Given the description of an element on the screen output the (x, y) to click on. 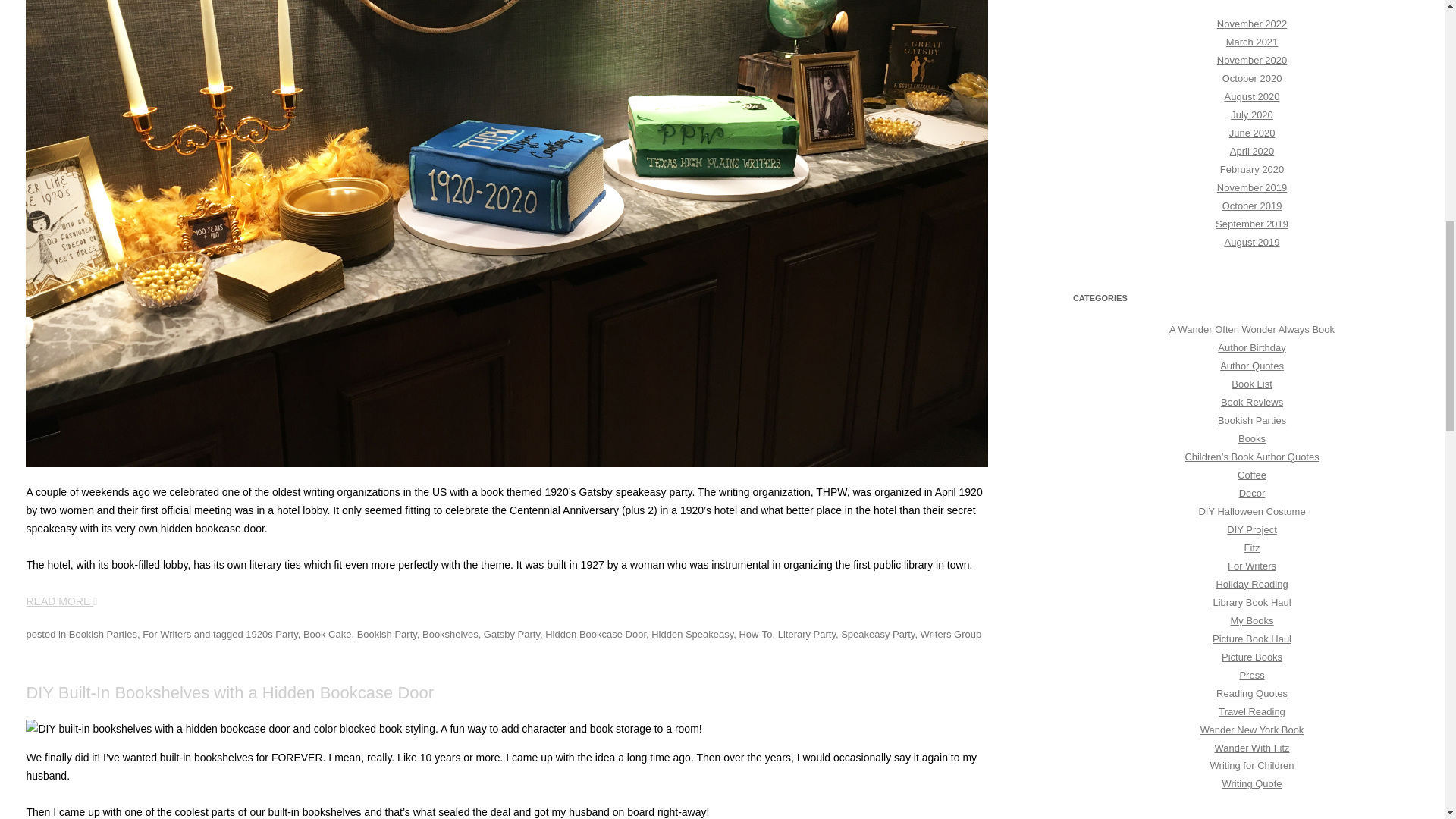
Hidden Bookcase Door (595, 633)
DIY Built-In Bookshelves with a Hidden Bookcase Door (229, 692)
Speakeasy Party (877, 633)
Book Cake (327, 633)
1920s Party (271, 633)
For Writers (166, 633)
Bookish Parties (102, 633)
READ MORE (61, 601)
Bookshelves (450, 633)
Hidden Speakeasy (691, 633)
Gatsby Party (511, 633)
How-To (754, 633)
Writers Group (950, 633)
Literary Party (806, 633)
Bookish Party (386, 633)
